Given the description of an element on the screen output the (x, y) to click on. 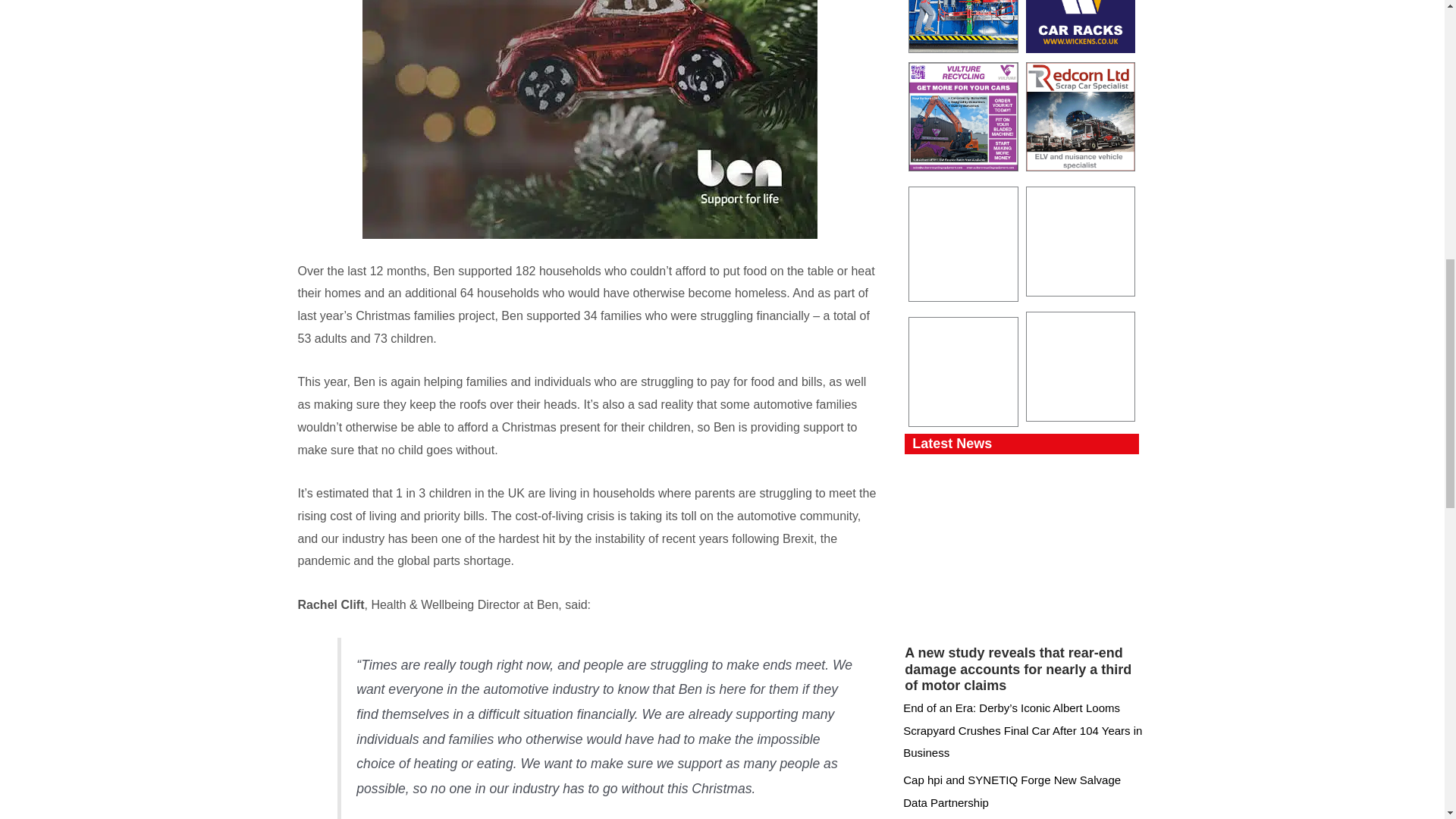
SCRAPPMATE (962, 244)
